Given the description of an element on the screen output the (x, y) to click on. 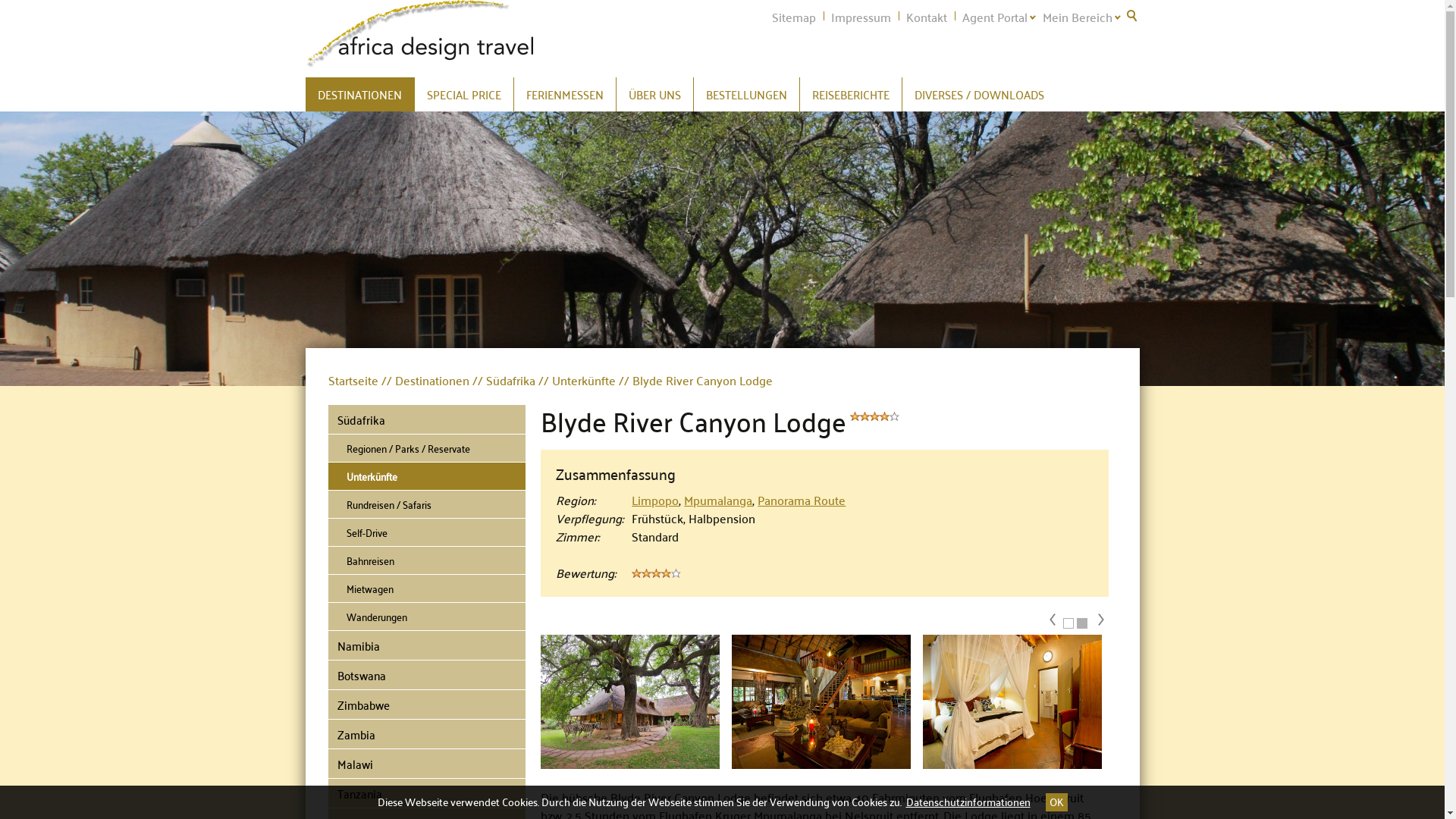
Mpumalanga Element type: text (718, 498)
Sitemap Element type: text (793, 16)
DESTINATIONEN Element type: text (358, 94)
Tanzania Element type: text (426, 793)
DIVERSES / DOWNLOADS Element type: text (979, 94)
FERIENMESSEN Element type: text (564, 94)
Limpopo Element type: text (654, 498)
SPECIAL PRICE Element type: text (463, 94)
Bahnreisen Element type: text (426, 560)
BESTELLUNGEN Element type: text (745, 94)
Panorama Route Element type: text (801, 498)
REISEBERICHTE Element type: text (849, 94)
Zur Startseite Element type: hover (418, 34)
Namibia Element type: text (426, 645)
Kontakt Element type: text (925, 16)
OK Element type: text (1055, 802)
Impressum Element type: text (860, 16)
Malawi Element type: text (426, 763)
Rundreisen / Safaris Element type: text (426, 504)
Self-Drive Element type: text (426, 532)
Agent Portal Element type: text (993, 16)
Mein Bereich Element type: text (1076, 16)
Zimbabwe Element type: text (426, 704)
Zambia Element type: text (426, 734)
Destinationen Element type: text (425, 379)
Startseite Element type: text (353, 379)
Blyde River Canyon Lodge Element type: text (696, 379)
Wanderungen Element type: text (426, 616)
Botswana Element type: text (426, 675)
Regionen / Parks / Reservate Element type: text (426, 448)
Mietwagen Element type: text (426, 588)
Datenschutzinformationen Element type: text (967, 801)
  Element type: text (1131, 14)
